Given the description of an element on the screen output the (x, y) to click on. 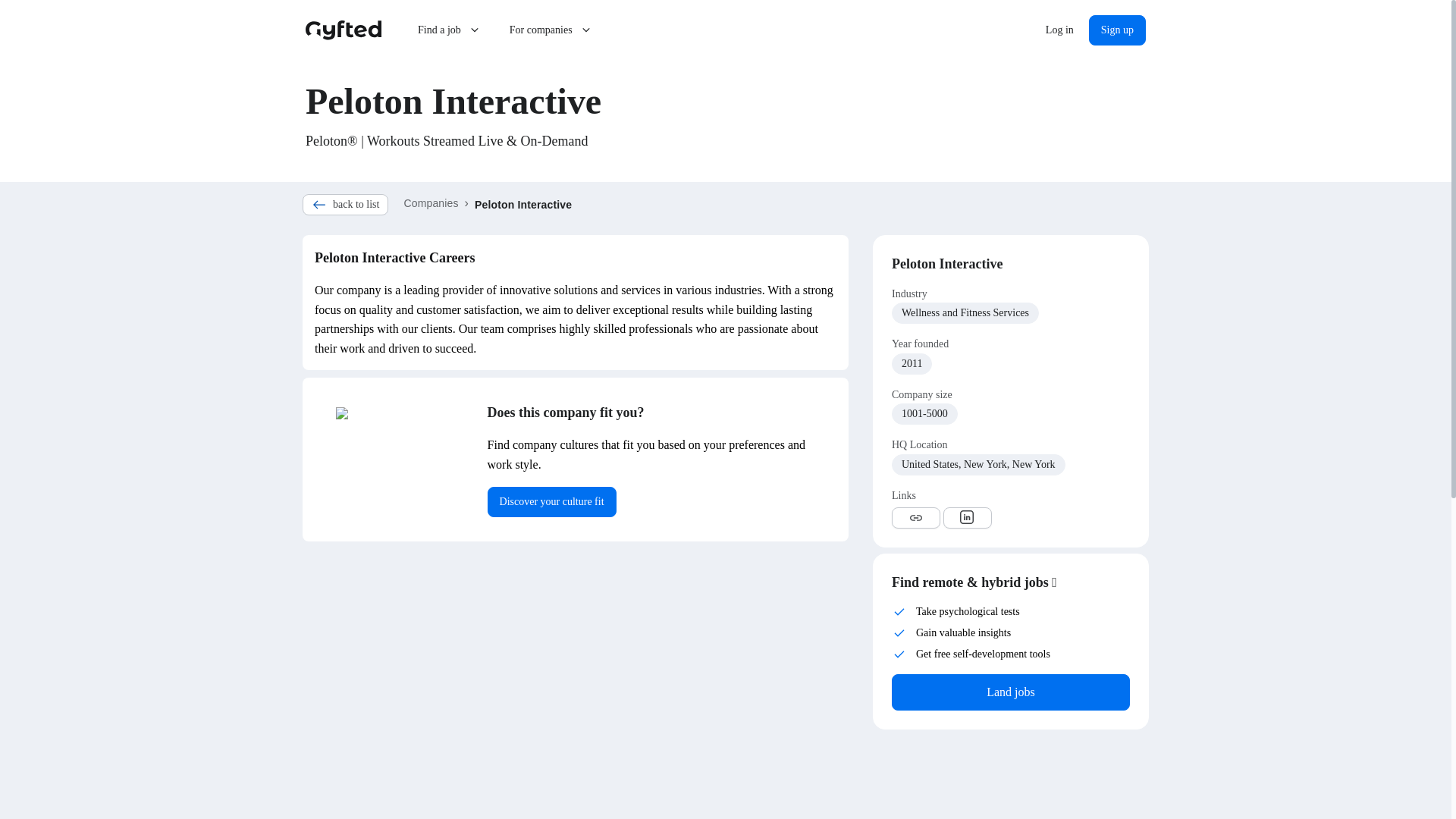
Sign up (1117, 30)
Discover your culture fit (551, 501)
Land jobs (1010, 692)
For companies (551, 30)
Companies (430, 203)
Log in (1059, 30)
back to list (345, 204)
Find a job (450, 30)
